Given the description of an element on the screen output the (x, y) to click on. 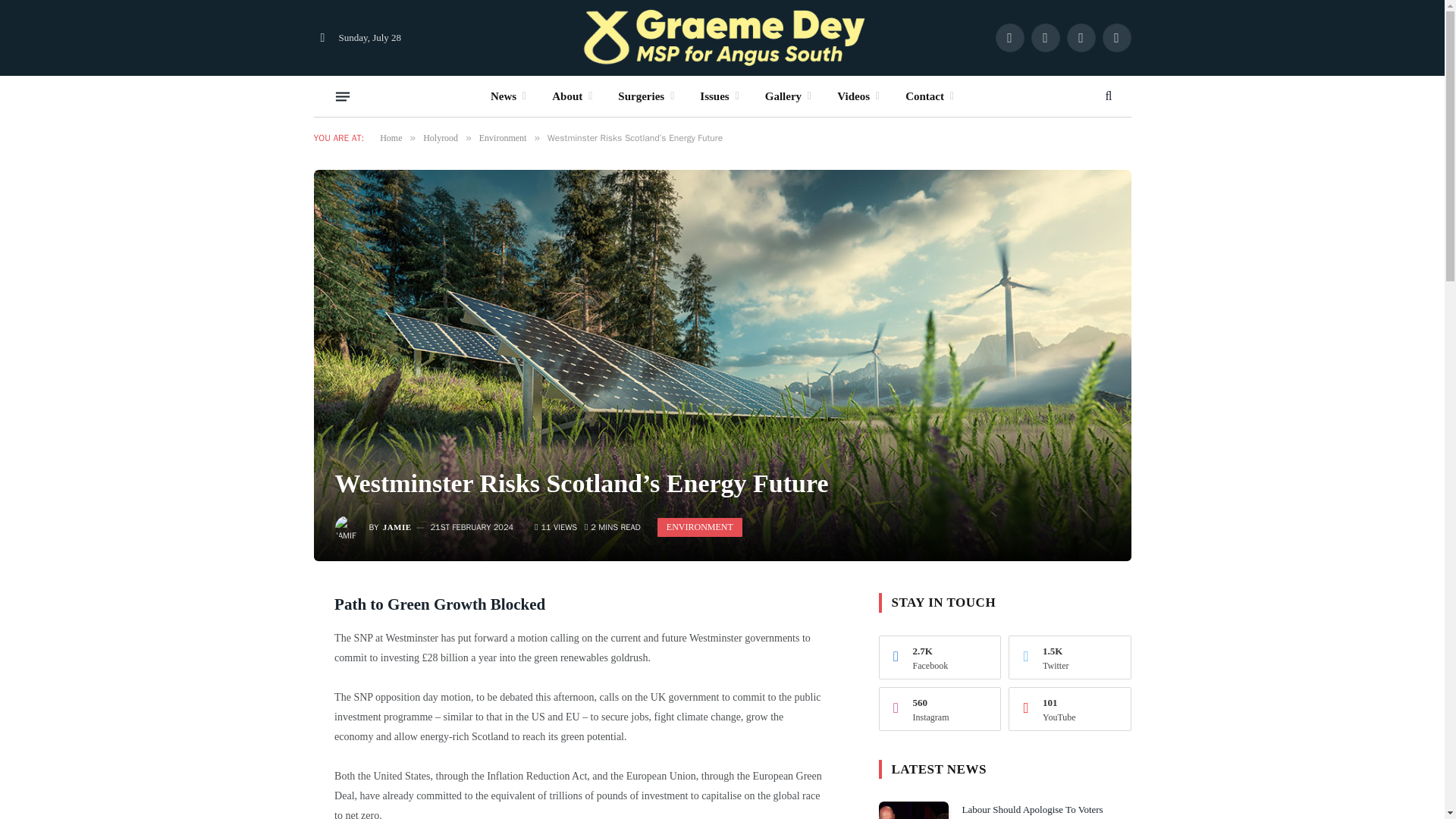
Switch to Dark Design - easier on eyes. (322, 37)
Graeme Dey (721, 38)
